Given the description of an element on the screen output the (x, y) to click on. 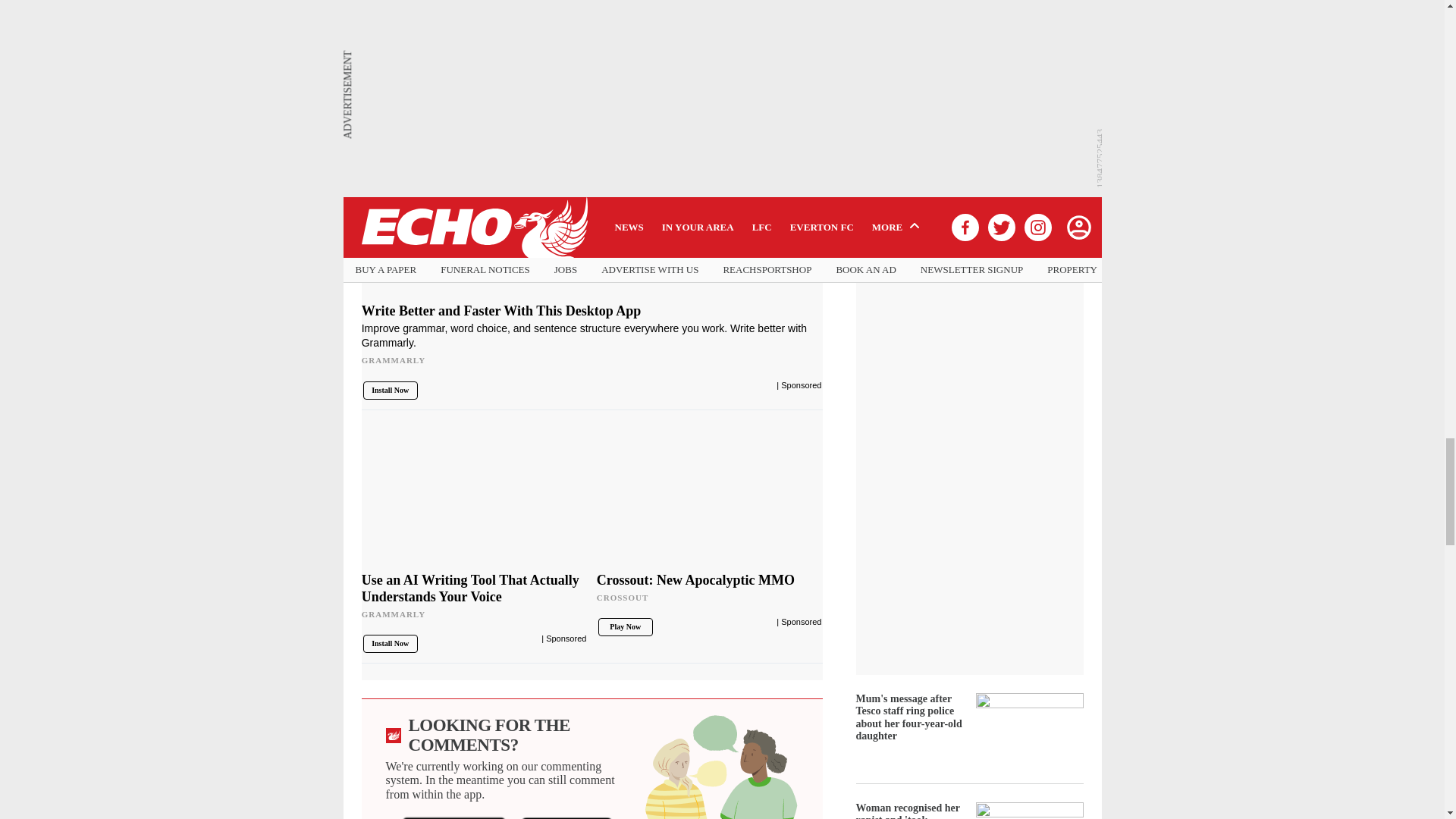
Crossout: New Apocalyptic MMO (709, 593)
Use an AI Writing Tool That Actually Understands Your Voice (474, 601)
Crossout: New Apocalyptic MMO (709, 497)
Use an AI Writing Tool That Actually Understands Your Voice (474, 497)
Write Better and Faster With This Desktop App (591, 339)
Write Better and Faster With This Desktop App (591, 174)
